Given the description of an element on the screen output the (x, y) to click on. 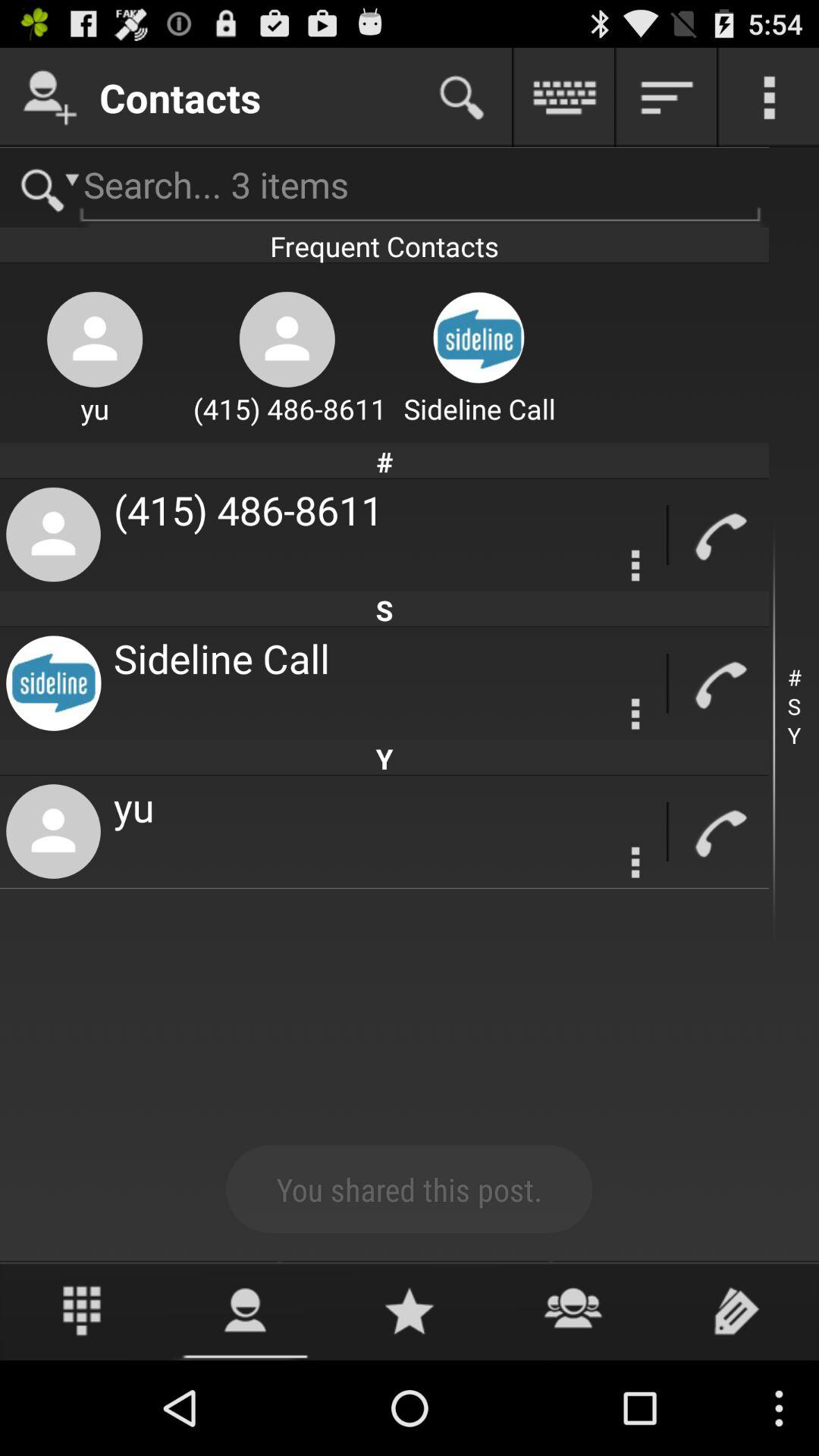
show your contacts (245, 1310)
